Given the description of an element on the screen output the (x, y) to click on. 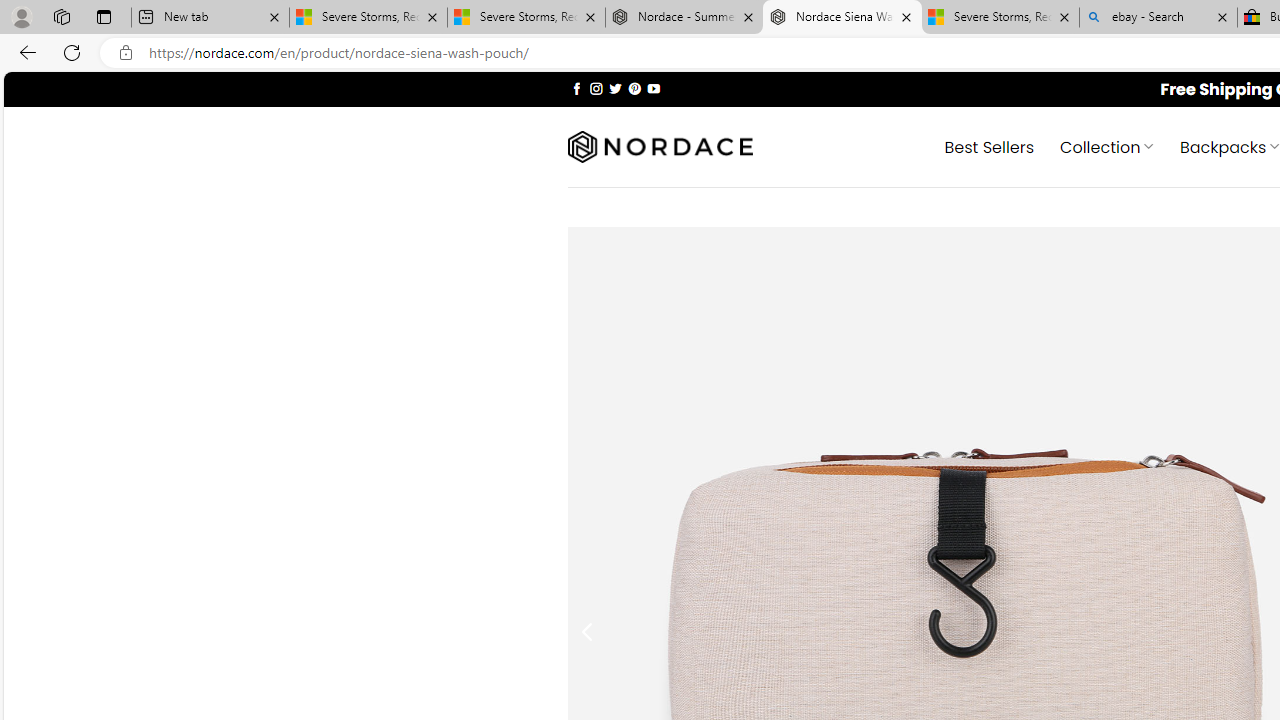
Follow on Facebook (576, 88)
Follow on Instagram (596, 88)
 Best Sellers (989, 146)
